Given the description of an element on the screen output the (x, y) to click on. 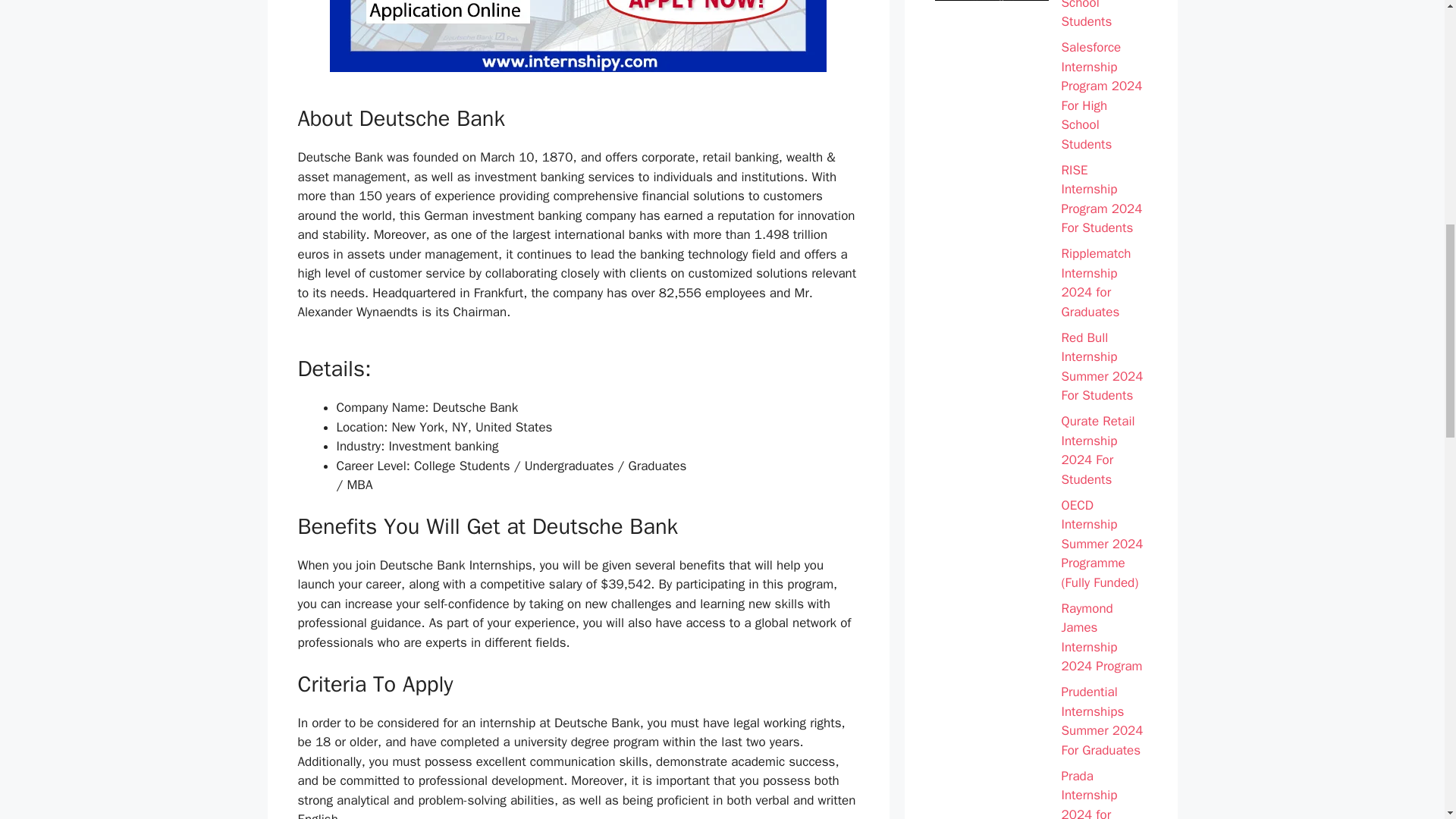
Red Bull Internship Summer 2024 For Students (1104, 366)
Samsung Internship Summer 2024 For High School Students (1104, 15)
Ripplematch Internship 2024 for Graduates (1104, 282)
RISE Internship Program 2024 For Students (1104, 199)
Qurate Retail Internship 2024 For Students (1104, 449)
Deutsche Bank Internship (578, 36)
